Given the description of an element on the screen output the (x, y) to click on. 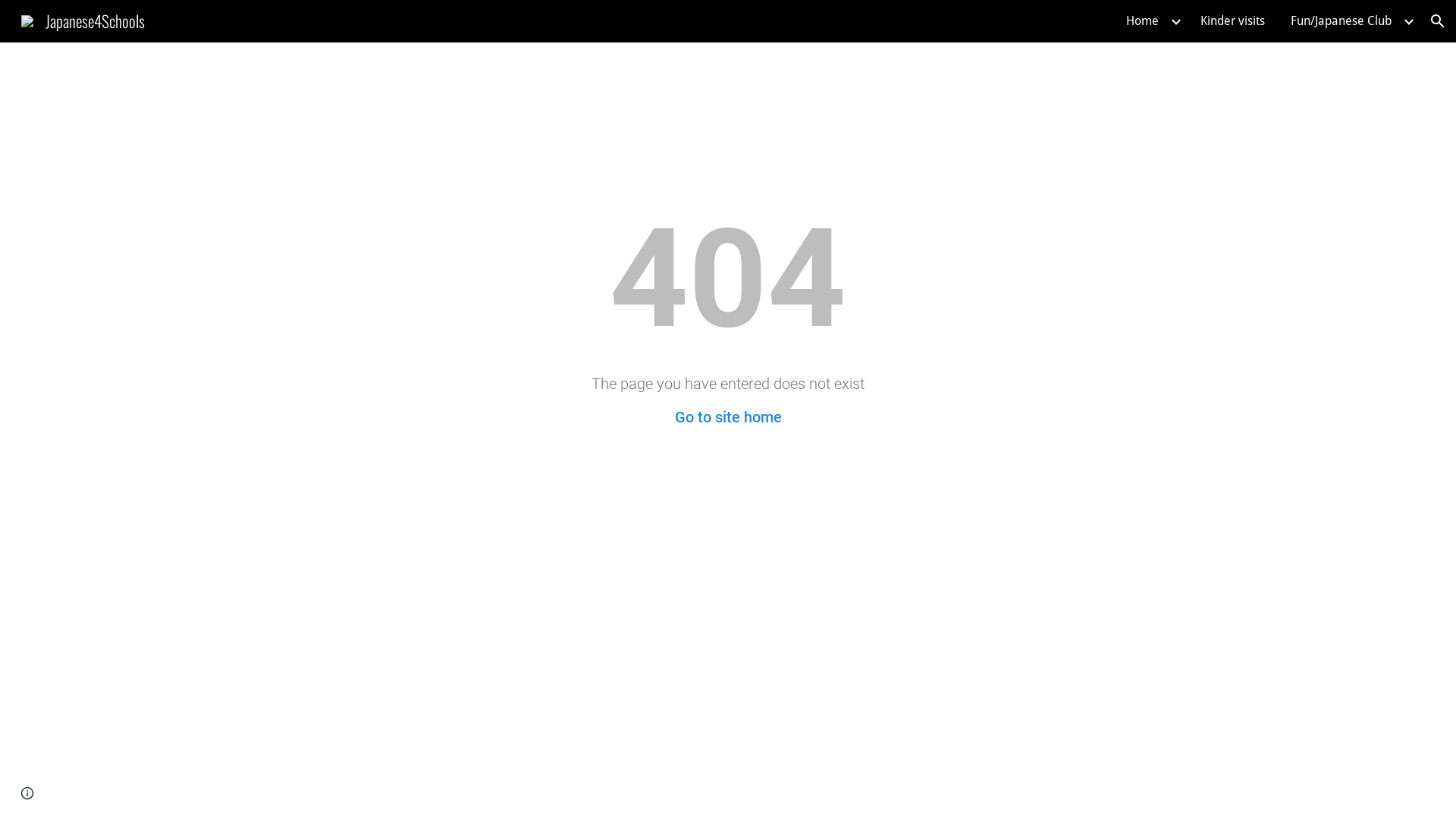
Japanese4Schools Element type: text (82, 18)
Kinder visits Element type: text (1232, 20)
Fun/Japanese Club Element type: text (1341, 20)
Go to site home Element type: text (727, 416)
Expand/Collapse Element type: hover (1175, 20)
Expand/Collapse Element type: hover (1408, 20)
Home Element type: text (1142, 20)
